Given the description of an element on the screen output the (x, y) to click on. 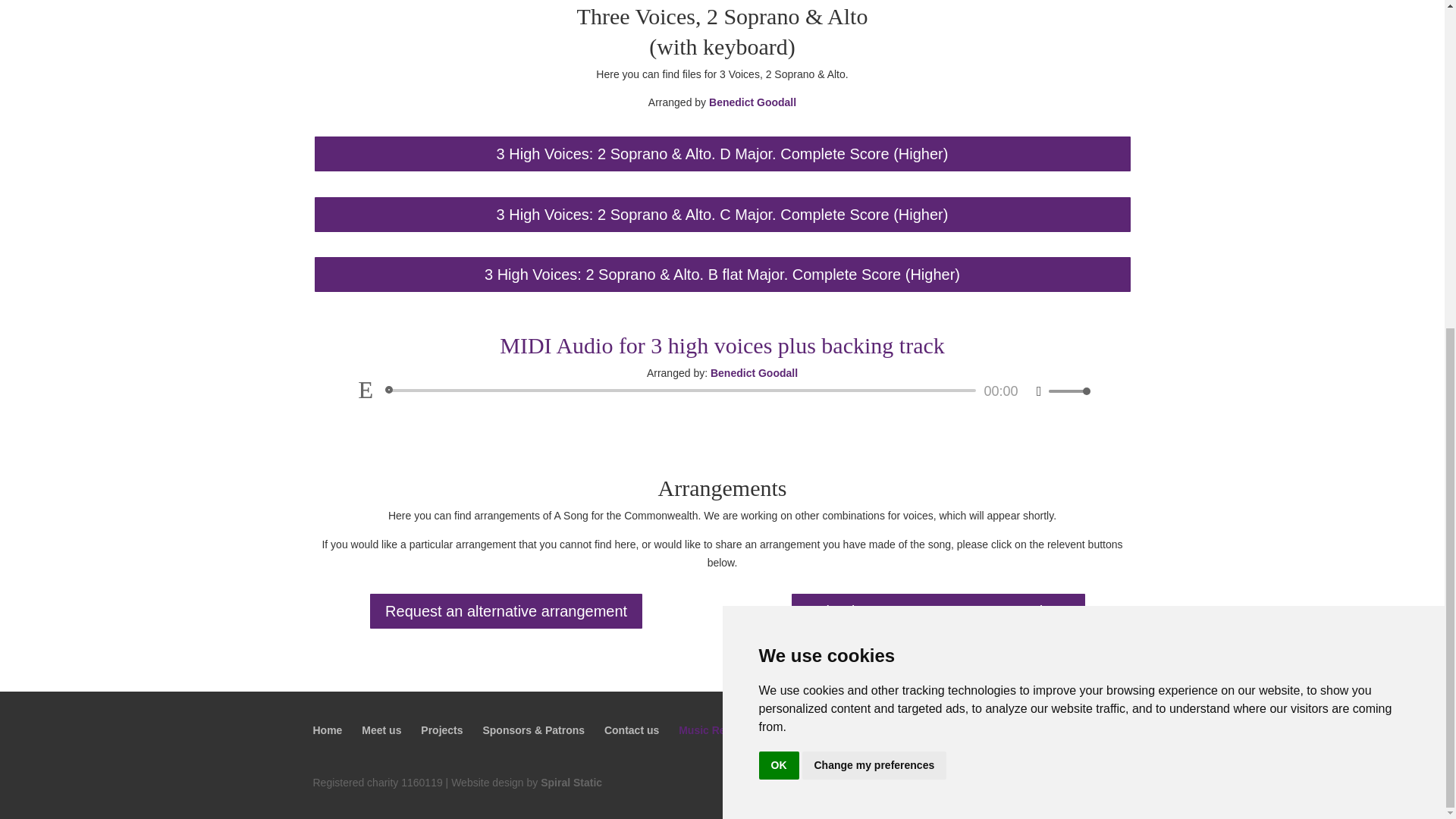
Meet us (381, 729)
Home (327, 729)
Music Relay (708, 729)
Projects (441, 729)
OK (777, 223)
Change my preferences (874, 223)
Request an alternative arrangement (505, 610)
Contact us (631, 729)
Upload your own arrangement to share (938, 610)
test (571, 782)
